Given the description of an element on the screen output the (x, y) to click on. 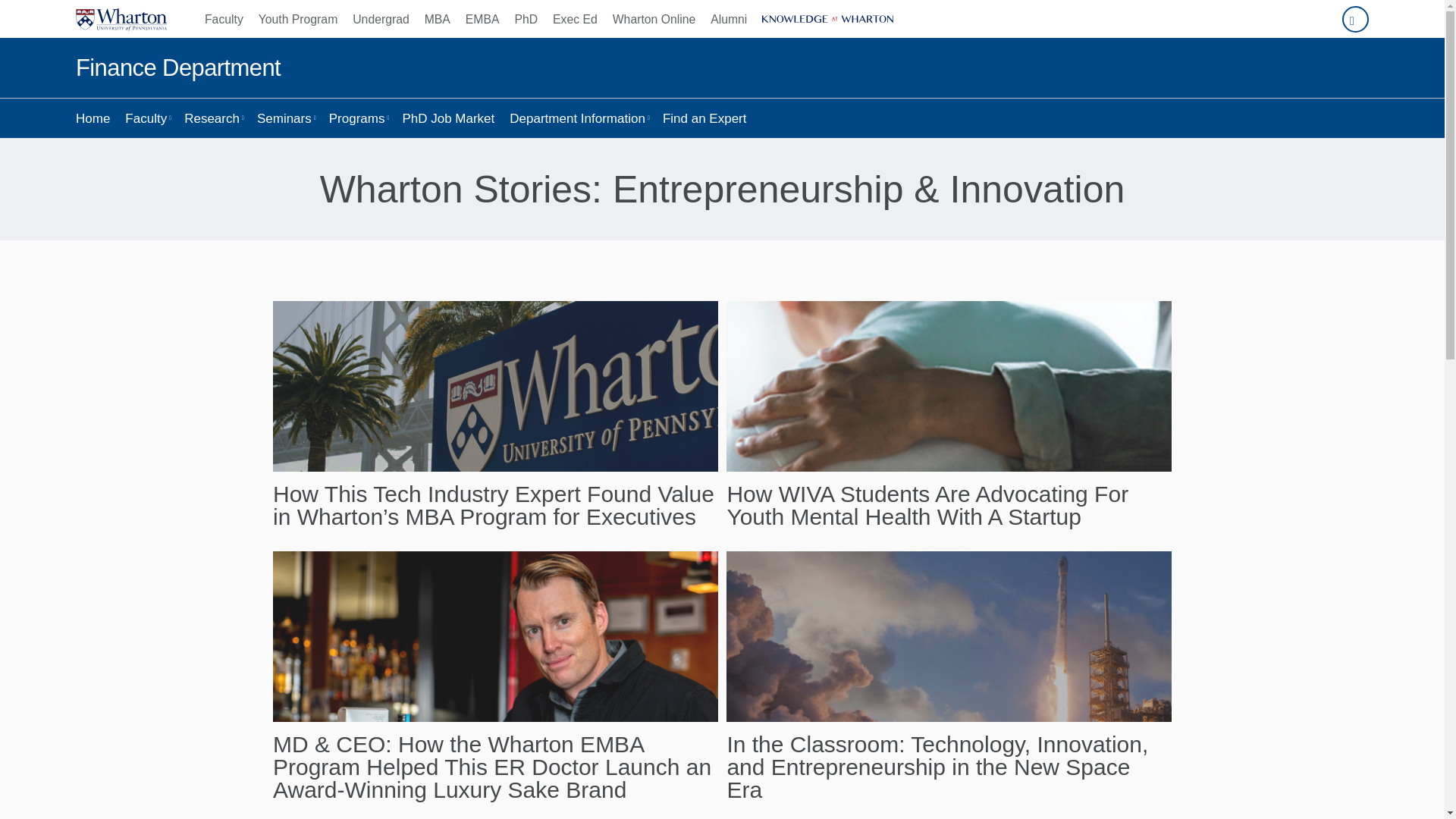
Faculty (146, 117)
Seminars (284, 117)
Faculty (227, 18)
PhD (525, 18)
Home (92, 117)
MBA (437, 18)
Finance Department (178, 67)
Search Wharton (1355, 18)
Undergrad (380, 18)
Youth Program (297, 18)
Wharton Home (121, 18)
EMBA (482, 18)
Exec Ed (574, 18)
Finance Department (178, 67)
Research (212, 117)
